Given the description of an element on the screen output the (x, y) to click on. 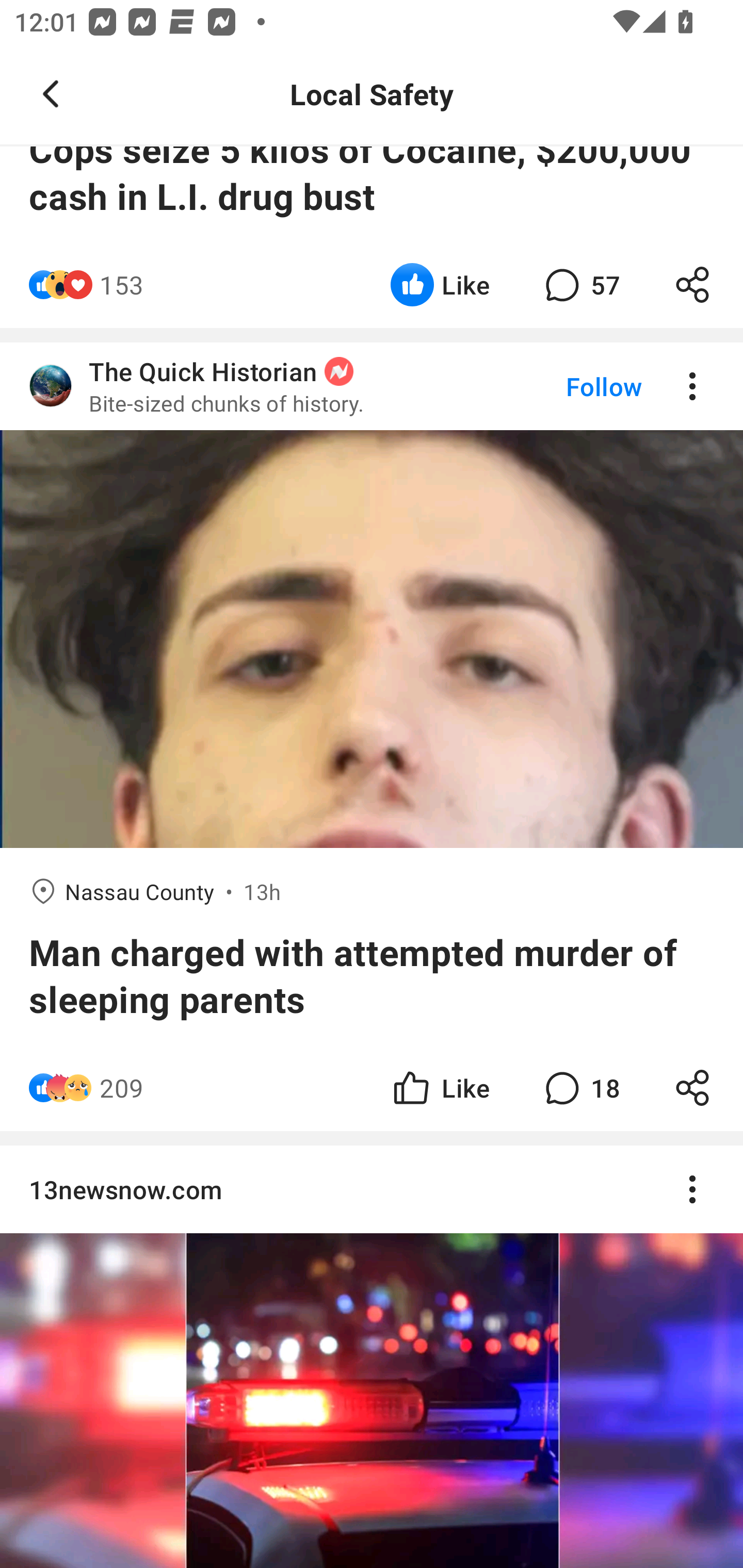
Navigate up (50, 93)
153 (121, 284)
Like (439, 284)
57 (579, 284)
Follow (569, 385)
209 (121, 1087)
Like (439, 1087)
18 (579, 1087)
13newsnow.com (371, 1357)
13newsnow.com (371, 1190)
